Given the description of an element on the screen output the (x, y) to click on. 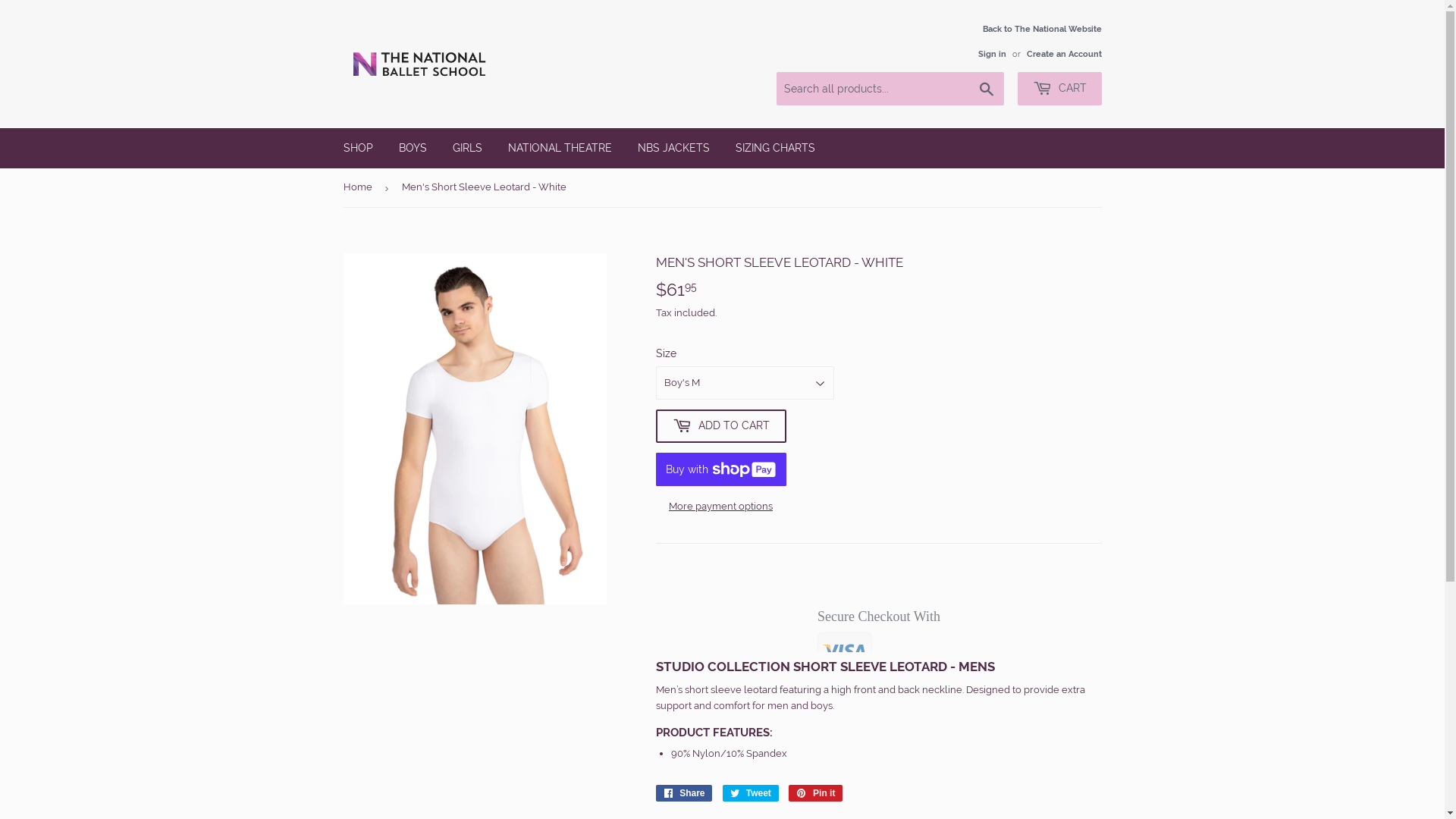
BOYS Element type: text (411, 147)
Search Element type: text (986, 89)
ADD TO CART Element type: text (720, 425)
NBS JACKETS Element type: text (673, 147)
SIZING CHARTS Element type: text (774, 147)
NATIONAL THEATRE Element type: text (558, 147)
Pin it
Pin on Pinterest Element type: text (815, 706)
Tweet
Tweet on Twitter Element type: text (750, 706)
GIRLS Element type: text (467, 147)
trust-badges-widget Element type: hover (878, 611)
Sign in Element type: text (992, 54)
Create an Account Element type: text (1063, 54)
CART Element type: text (1059, 88)
SHOP Element type: text (358, 147)
Back to The National Website Element type: text (1033, 40)
Home Element type: text (359, 187)
Share
Share on Facebook Element type: text (683, 706)
